Given the description of an element on the screen output the (x, y) to click on. 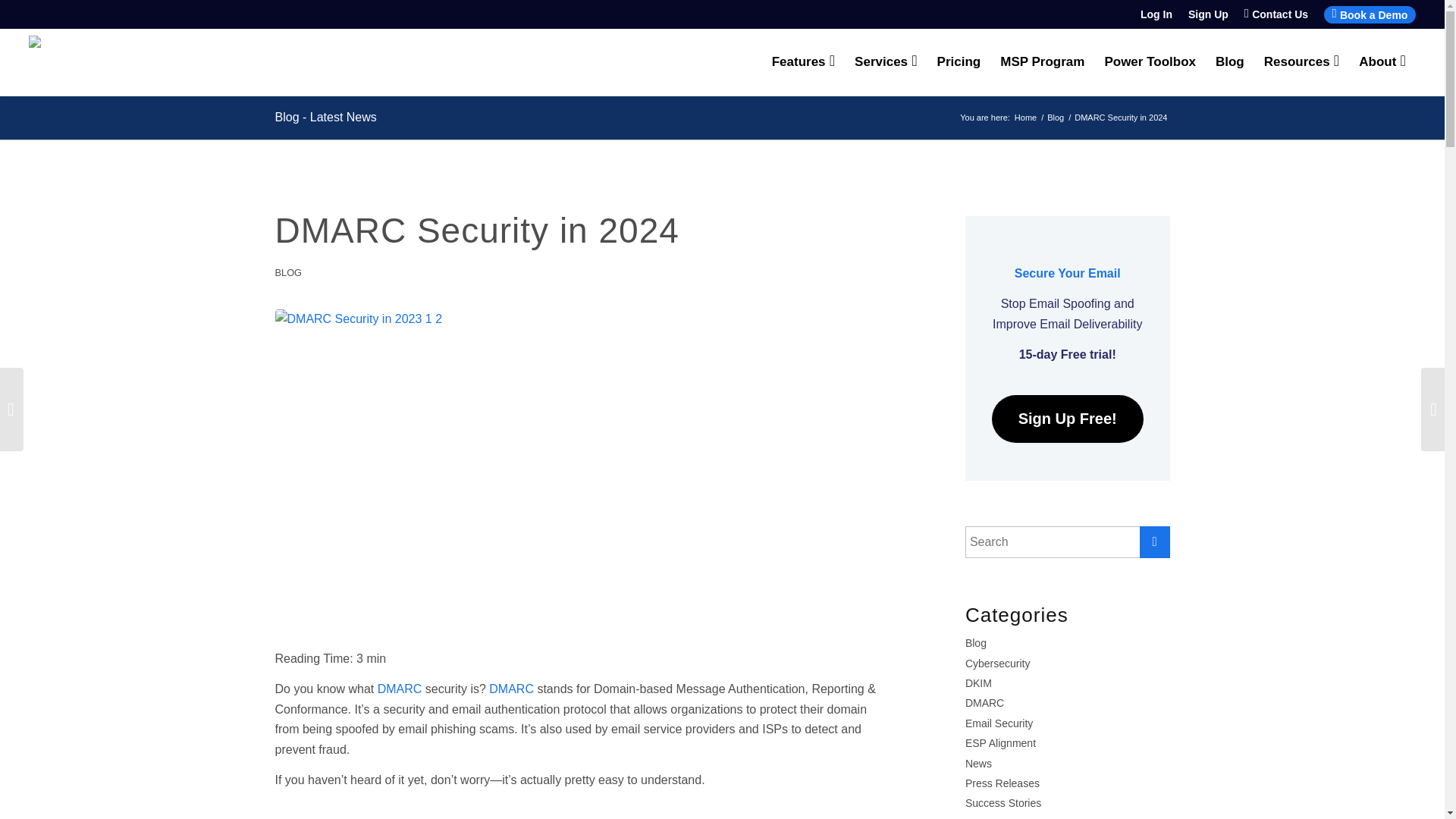
Book a Demo (1369, 14)
Services (885, 61)
Pricing (959, 61)
PowerDMARC (1025, 117)
Blog (1229, 61)
Contact Us (1275, 14)
Features (802, 61)
black powerdmarc logo (108, 62)
Power Toolbox (1149, 61)
MSP Program (1042, 61)
Log In (1156, 14)
Resources (1301, 61)
Permanent Link: Blog - Latest News (325, 116)
Sign Up (1208, 14)
